Given the description of an element on the screen output the (x, y) to click on. 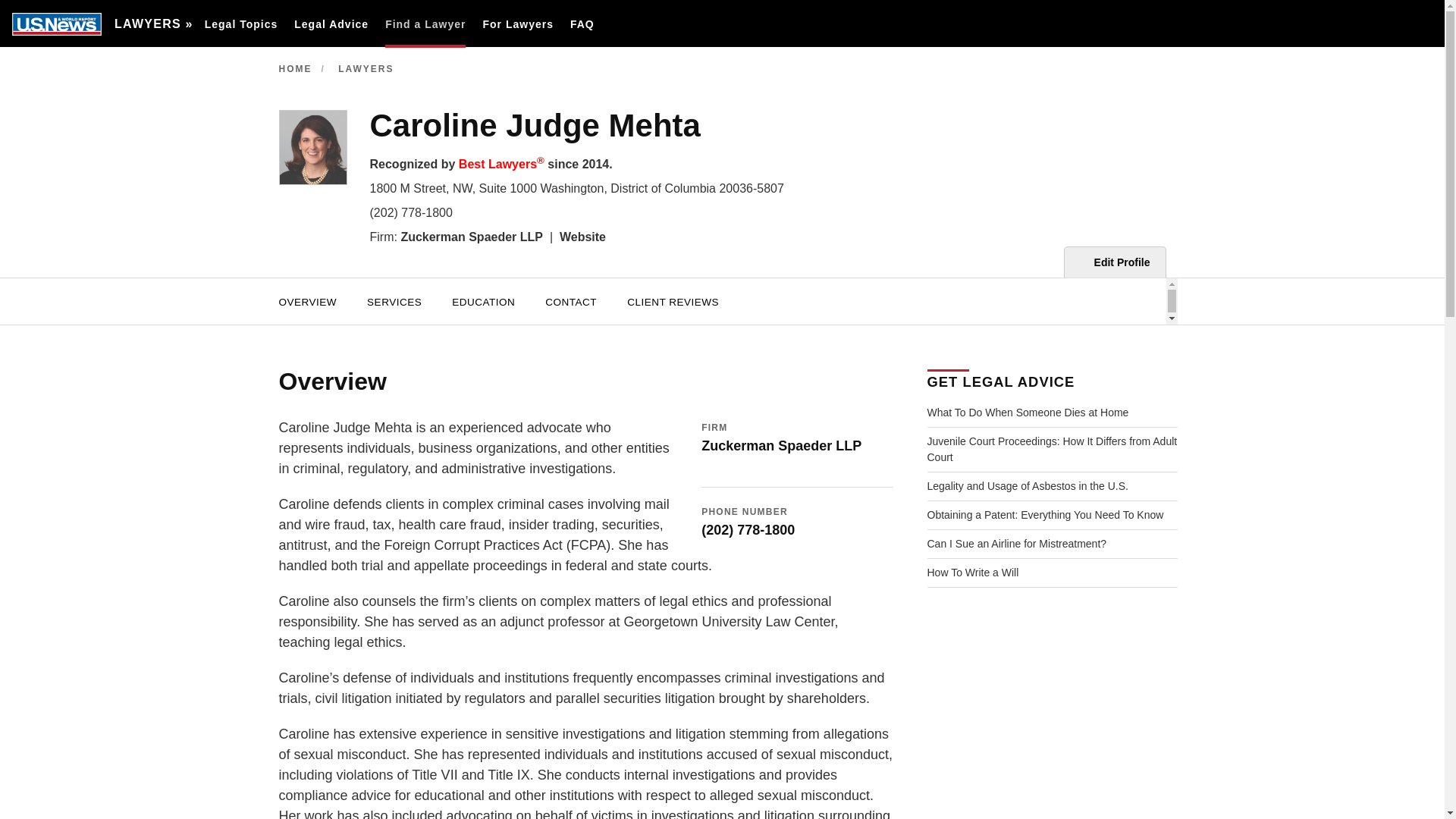
Find a Lawyer (425, 23)
For Lawyers (517, 23)
Legal Advice (331, 23)
Legal Topics (241, 23)
U.S. News (56, 24)
Caroline Judge Mehta's Profile Image (313, 147)
